Given the description of an element on the screen output the (x, y) to click on. 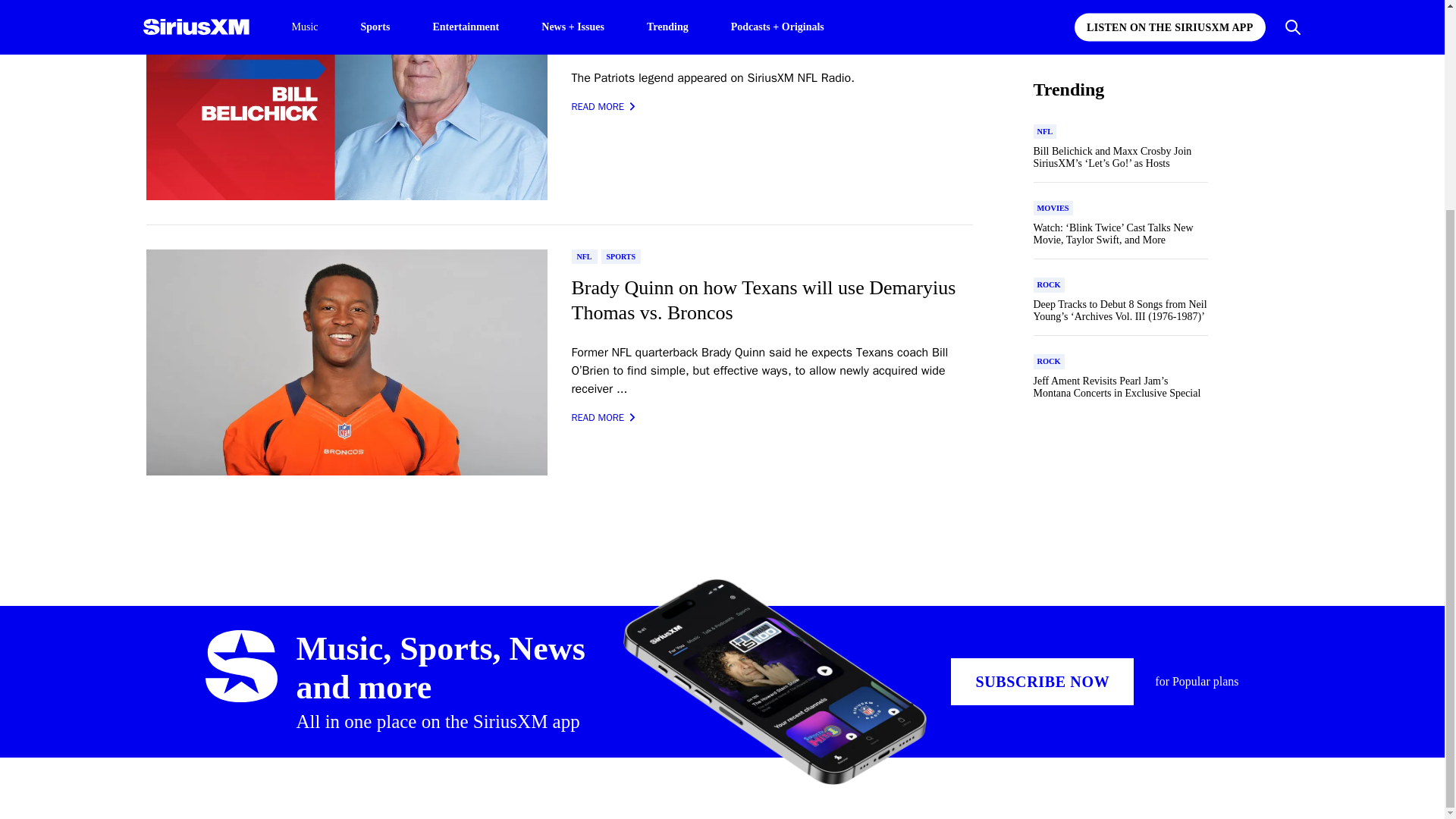
ROCK (1048, 177)
MOVIES (1051, 101)
ROCK (1048, 254)
SPORTS (619, 256)
READ MORE (603, 106)
NFL (1044, 24)
NFL (584, 256)
READ MORE (603, 417)
